Given the description of an element on the screen output the (x, y) to click on. 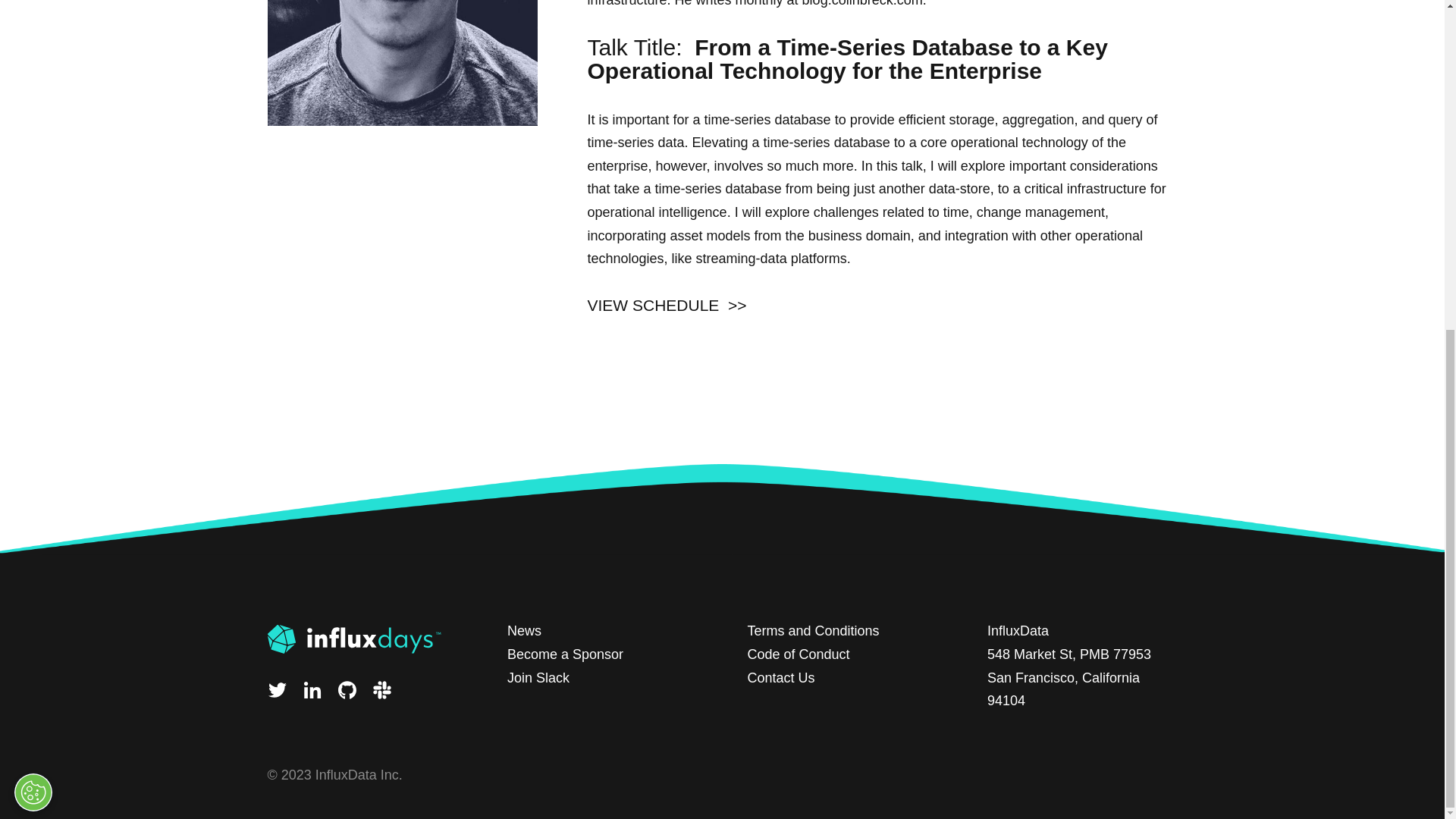
blog.colinbreck.com (862, 3)
InfluxDays-logo (361, 637)
Cookies Settings (33, 247)
